Given the description of an element on the screen output the (x, y) to click on. 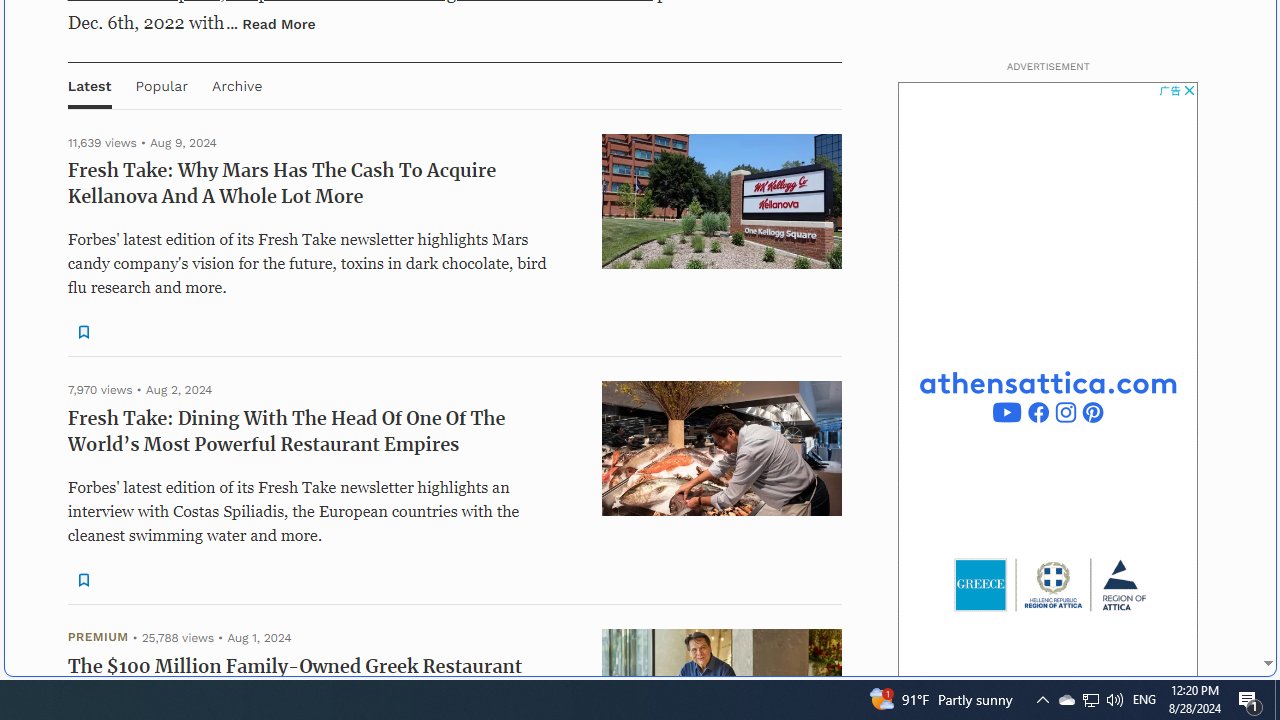
Latest (89, 84)
Class: sElHJWe4 NQX0jJYe (82, 579)
article image (722, 448)
Popular (161, 84)
Archive (236, 84)
article image (722, 448)
... Read More (271, 23)
